Given the description of an element on the screen output the (x, y) to click on. 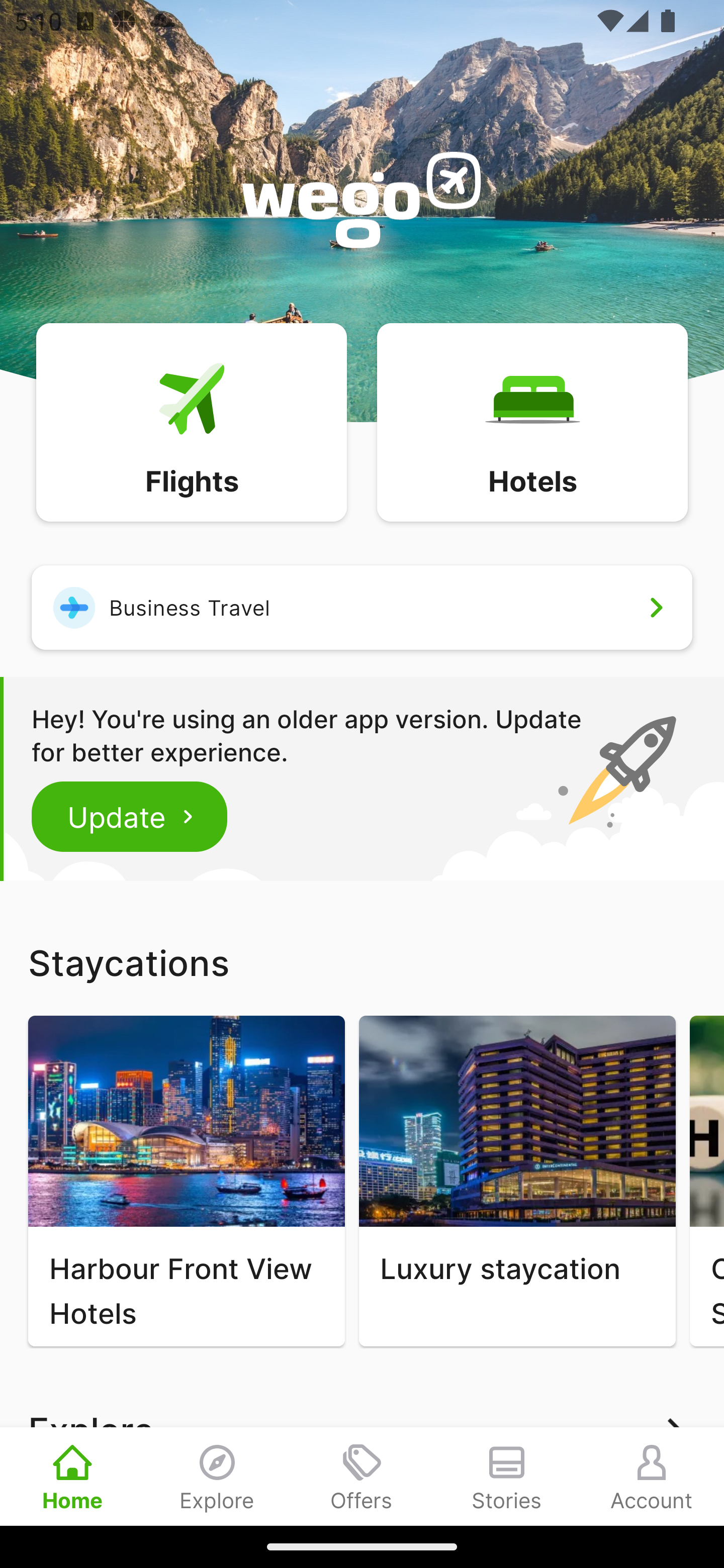
Flights (191, 420)
Hotels (532, 420)
Business Travel (361, 607)
Update (129, 815)
Staycations (362, 962)
Harbour Front View Hotels (186, 1181)
Luxury staycation (517, 1181)
Explore (216, 1475)
Offers (361, 1475)
Stories (506, 1475)
Account (651, 1475)
